Given the description of an element on the screen output the (x, y) to click on. 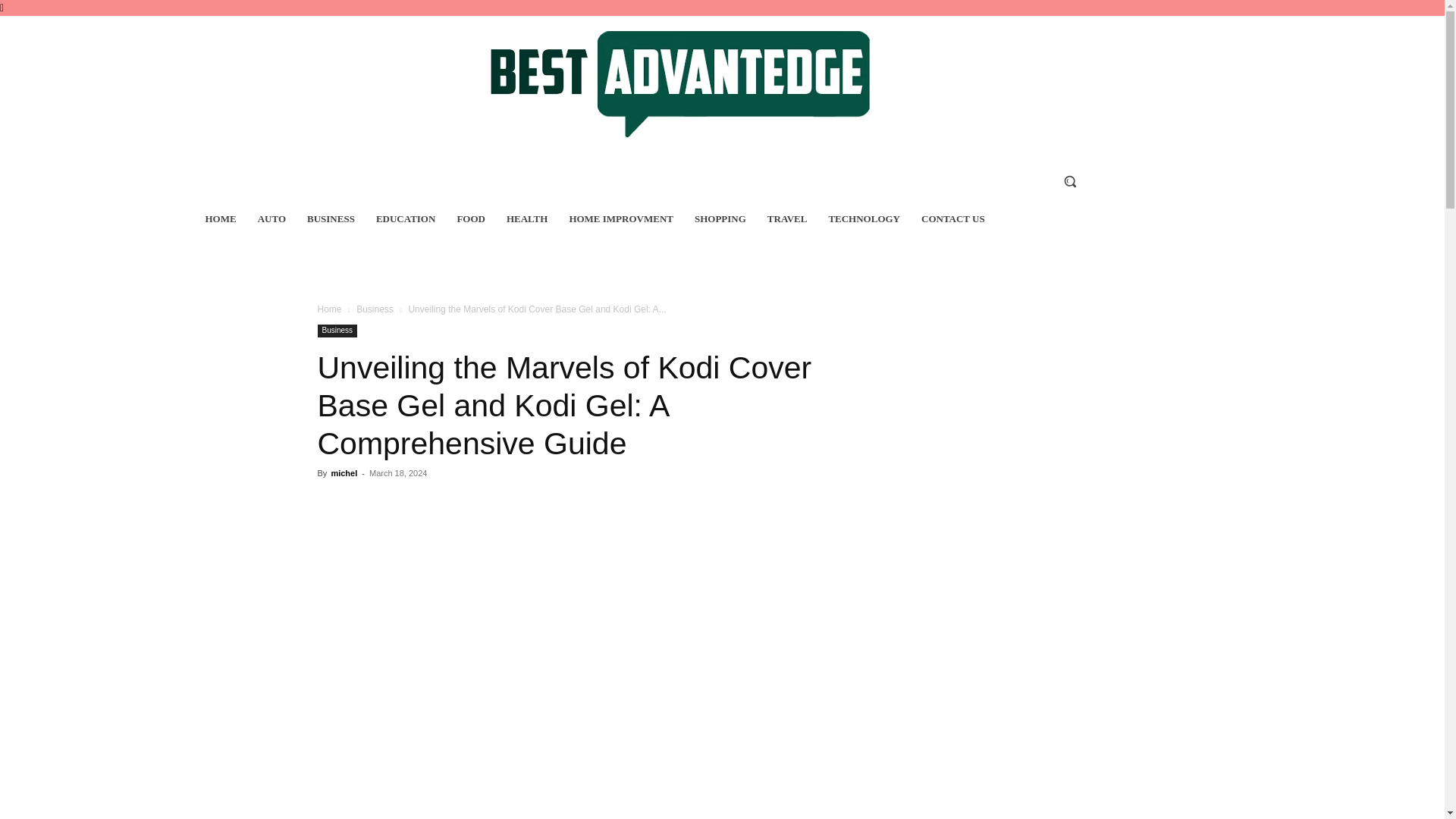
EDUCATION (405, 219)
View all posts in Business (374, 308)
HOME IMPROVMENT (620, 219)
HEALTH (526, 219)
TRAVEL (787, 219)
SHOPPING (720, 219)
TECHNOLOGY (863, 219)
CONTACT US (953, 219)
BUSINESS (331, 219)
